Given the description of an element on the screen output the (x, y) to click on. 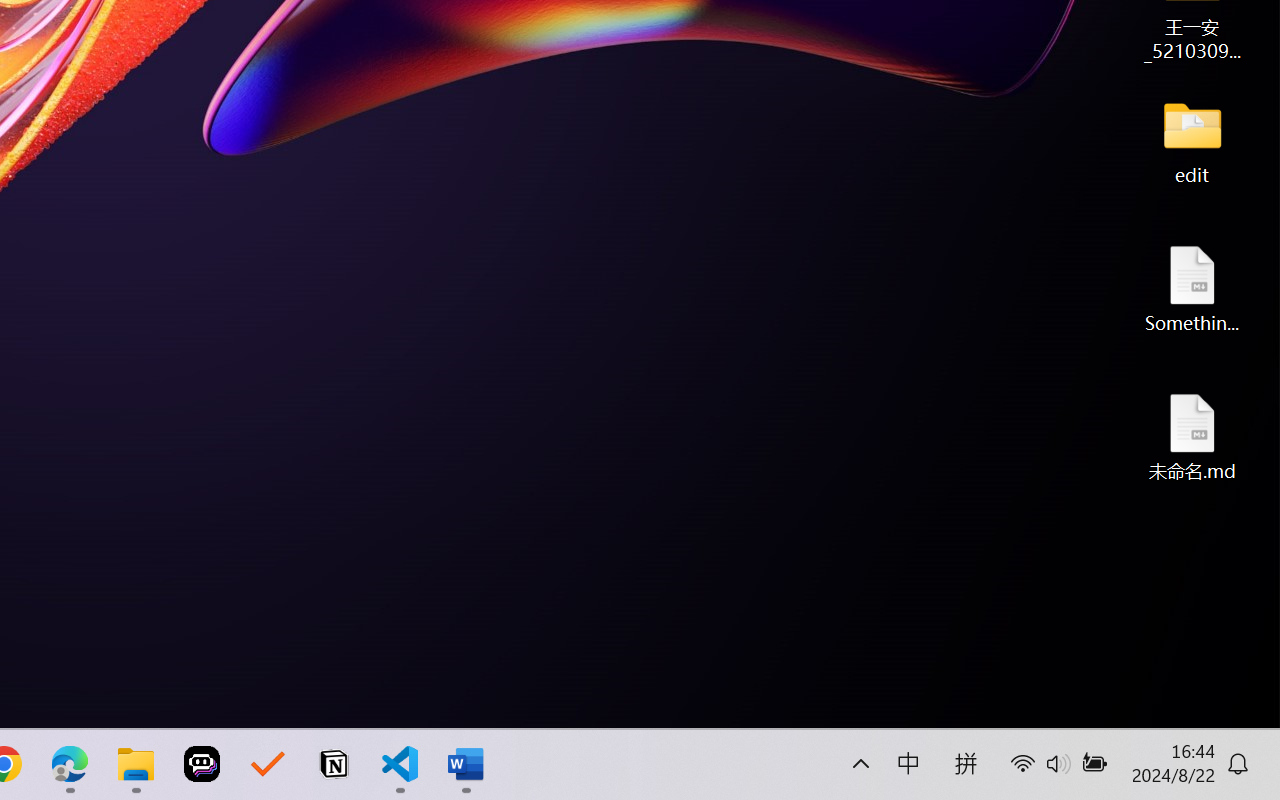
Something.md (1192, 288)
edit (1192, 140)
